Given the description of an element on the screen output the (x, y) to click on. 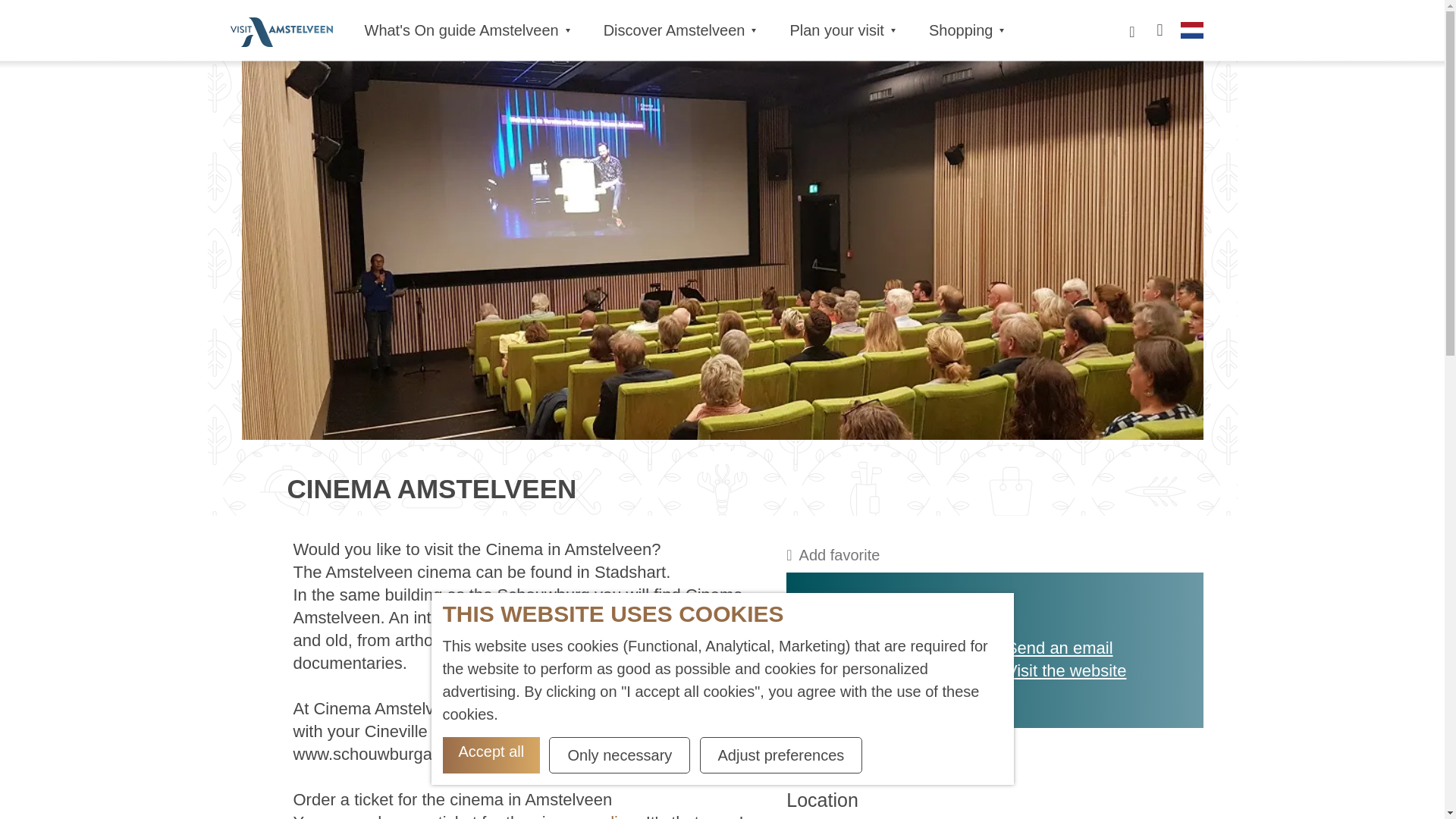
Only necessary (619, 755)
Accept all (491, 755)
Plan your visit (841, 30)
Go to the homepage of Visit Amstelveen (281, 32)
Discover Amstelveen (678, 30)
Plan your route (865, 692)
Adjust preferences (781, 755)
What's On guide Amstelveen (465, 30)
online (832, 555)
